Given the description of an element on the screen output the (x, y) to click on. 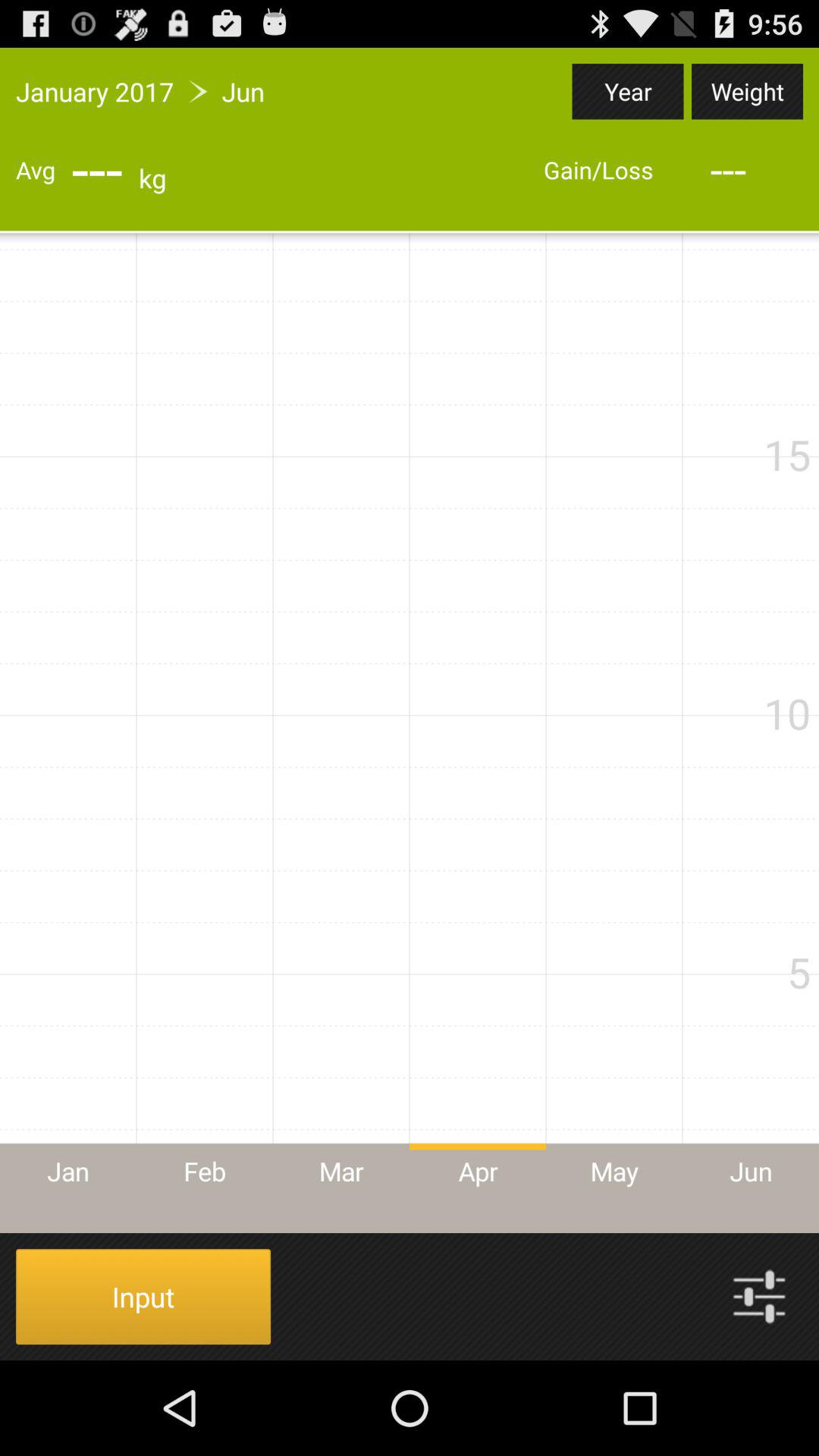
turn off icon at the bottom right corner (759, 1296)
